Given the description of an element on the screen output the (x, y) to click on. 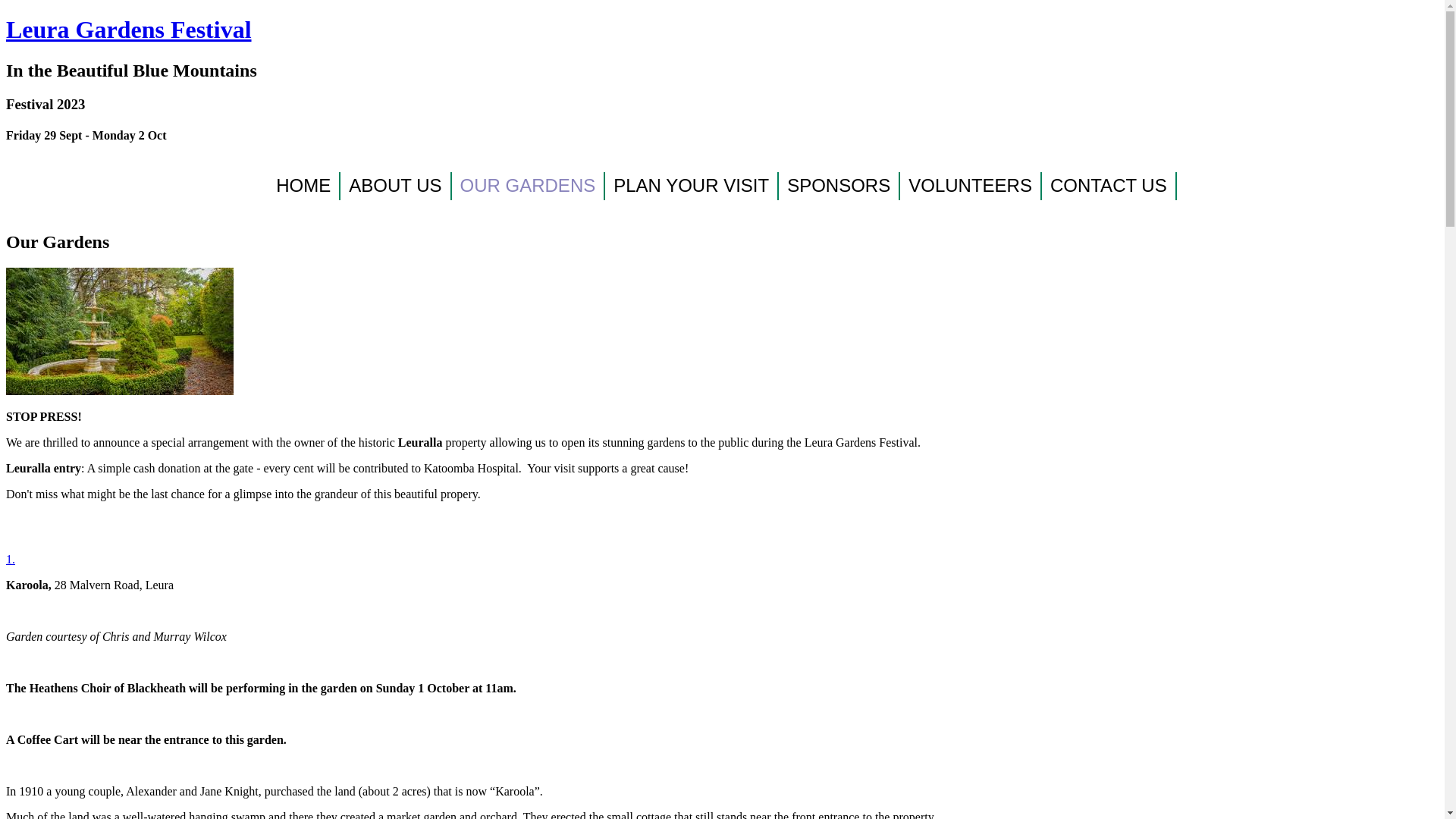
HOME Element type: text (303, 186)
PLAN YOUR VISIT Element type: text (691, 186)
SPONSORS Element type: text (839, 186)
1. Element type: text (10, 558)
Leura Gardens Festival Element type: text (722, 29)
ABOUT US Element type: text (395, 186)
VOLUNTEERS Element type: text (970, 186)
OUR GARDENS Element type: text (528, 186)
CONTACT US Element type: text (1108, 186)
